Given the description of an element on the screen output the (x, y) to click on. 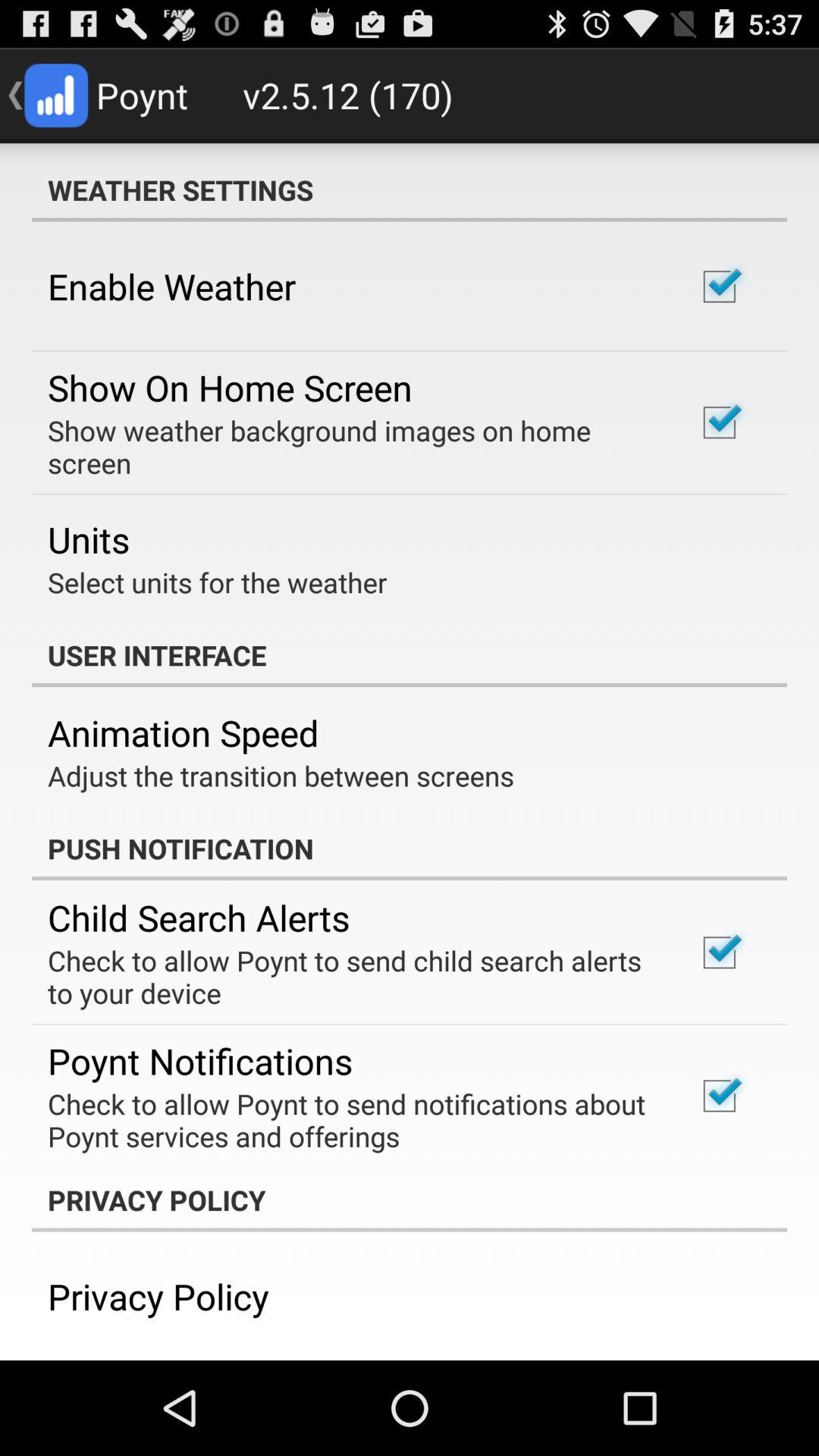
flip to the push notification app (409, 848)
